Given the description of an element on the screen output the (x, y) to click on. 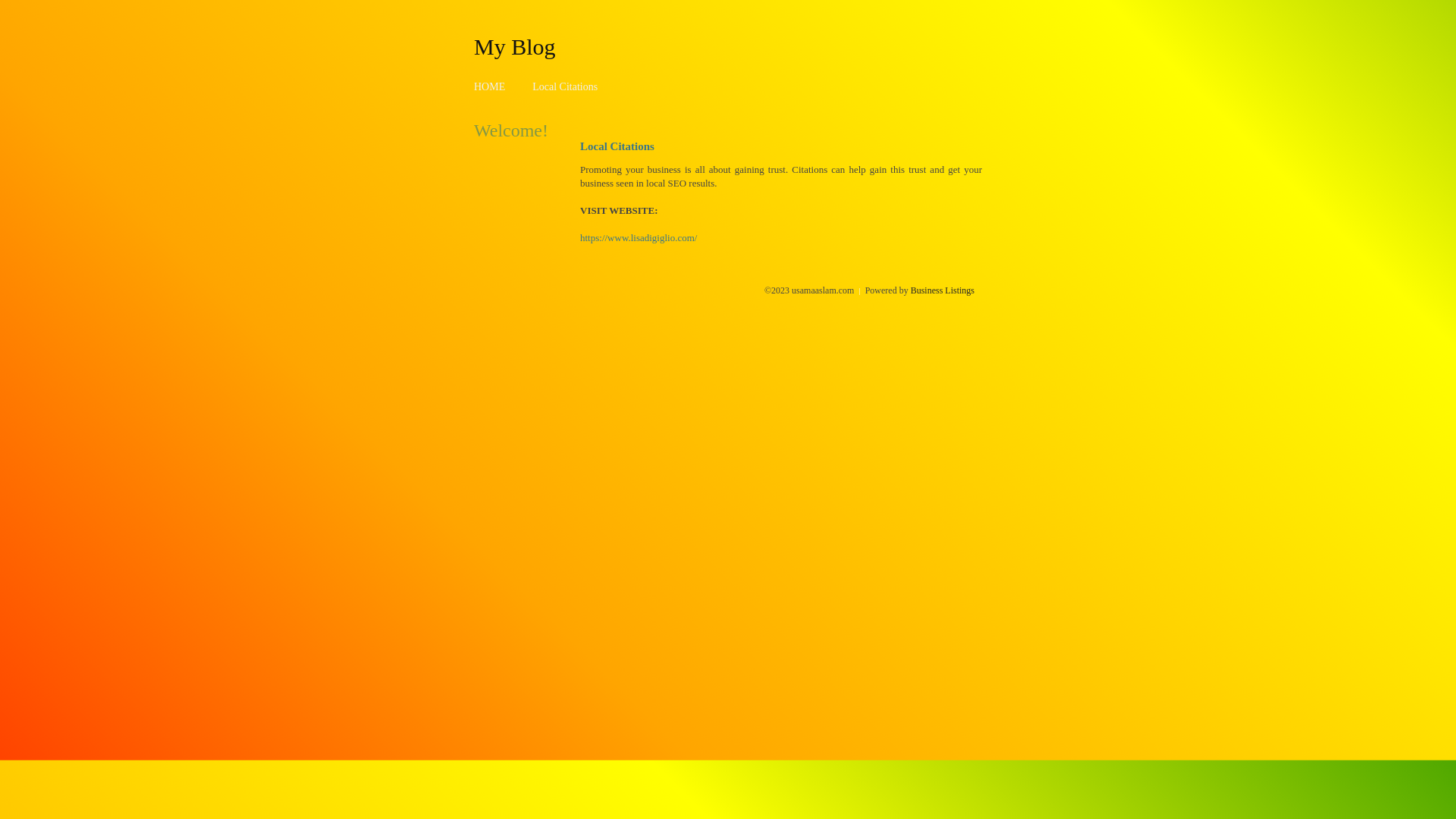
My Blog Element type: text (514, 46)
Business Listings Element type: text (942, 290)
Local Citations Element type: text (564, 86)
HOME Element type: text (489, 86)
https://www.lisadigiglio.com/ Element type: text (638, 237)
